Given the description of an element on the screen output the (x, y) to click on. 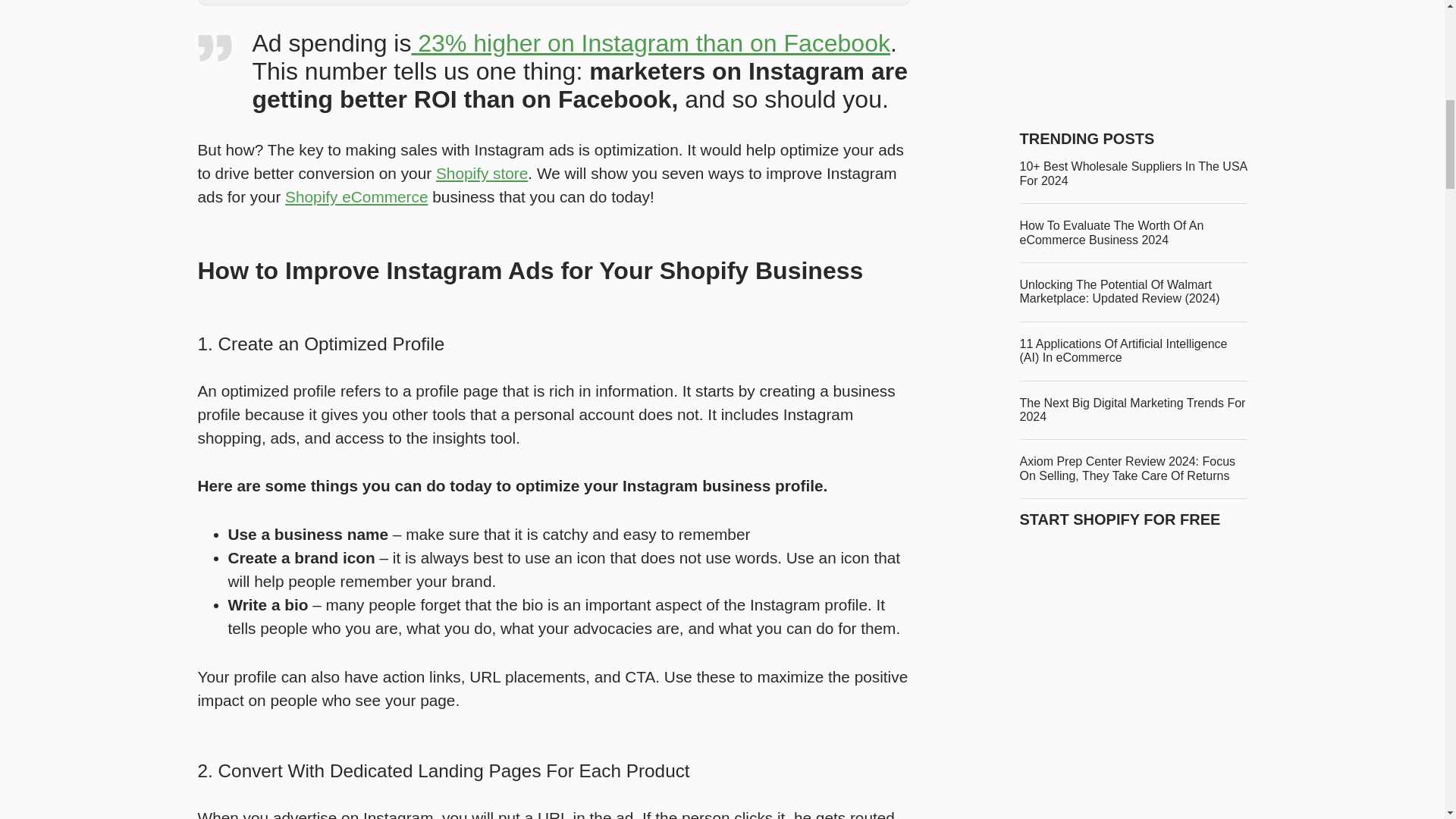
Impact (219, 700)
Shopify (481, 172)
Shopify (356, 196)
